Given the description of an element on the screen output the (x, y) to click on. 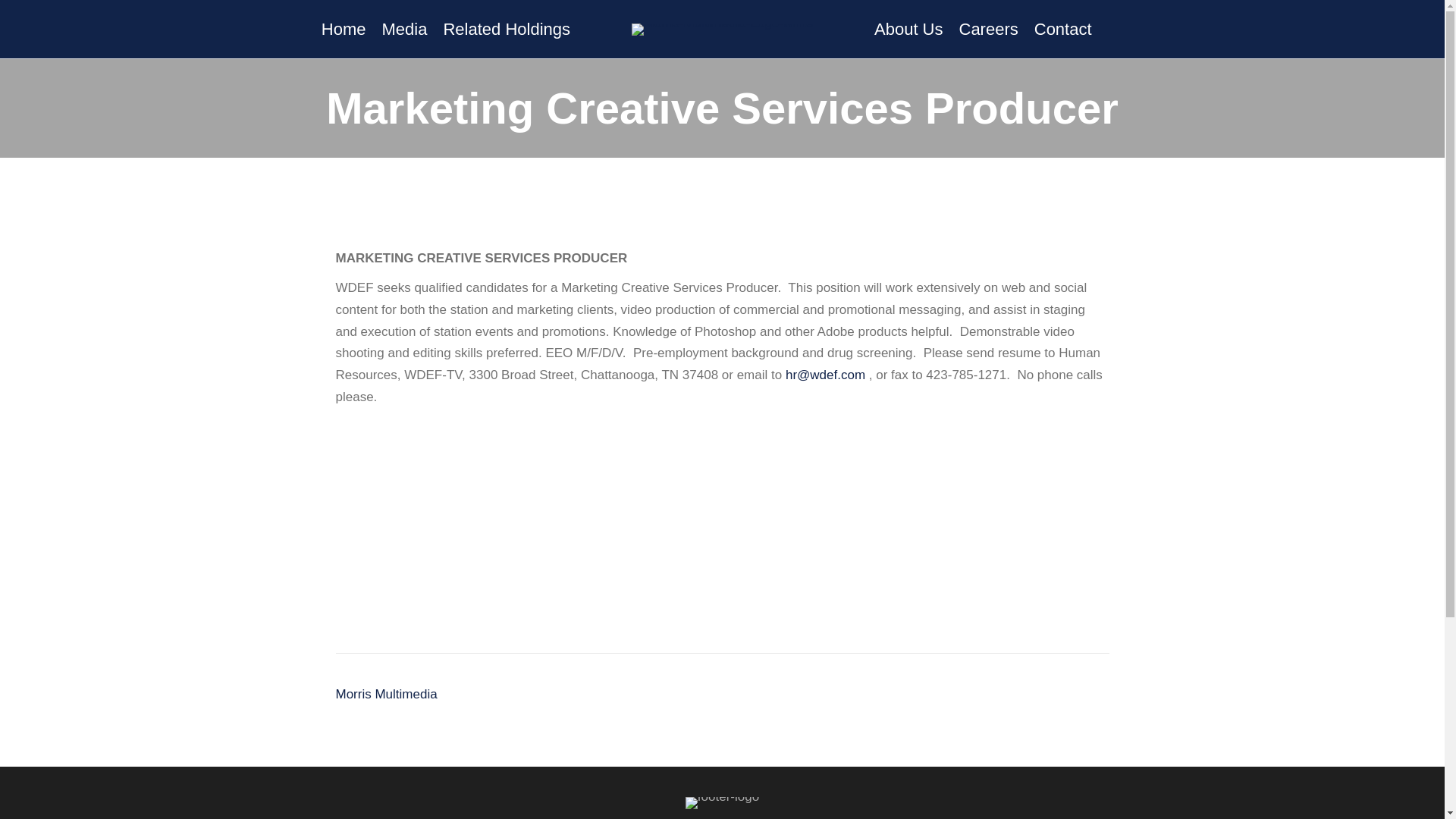
Media (404, 28)
Related Holdings (506, 28)
About Us (908, 28)
Careers (987, 28)
footer-logo (721, 802)
Morris Multimedia (385, 694)
Morris-Multimedia-Logo-white (722, 29)
Contact (1062, 28)
Home (344, 28)
